Given the description of an element on the screen output the (x, y) to click on. 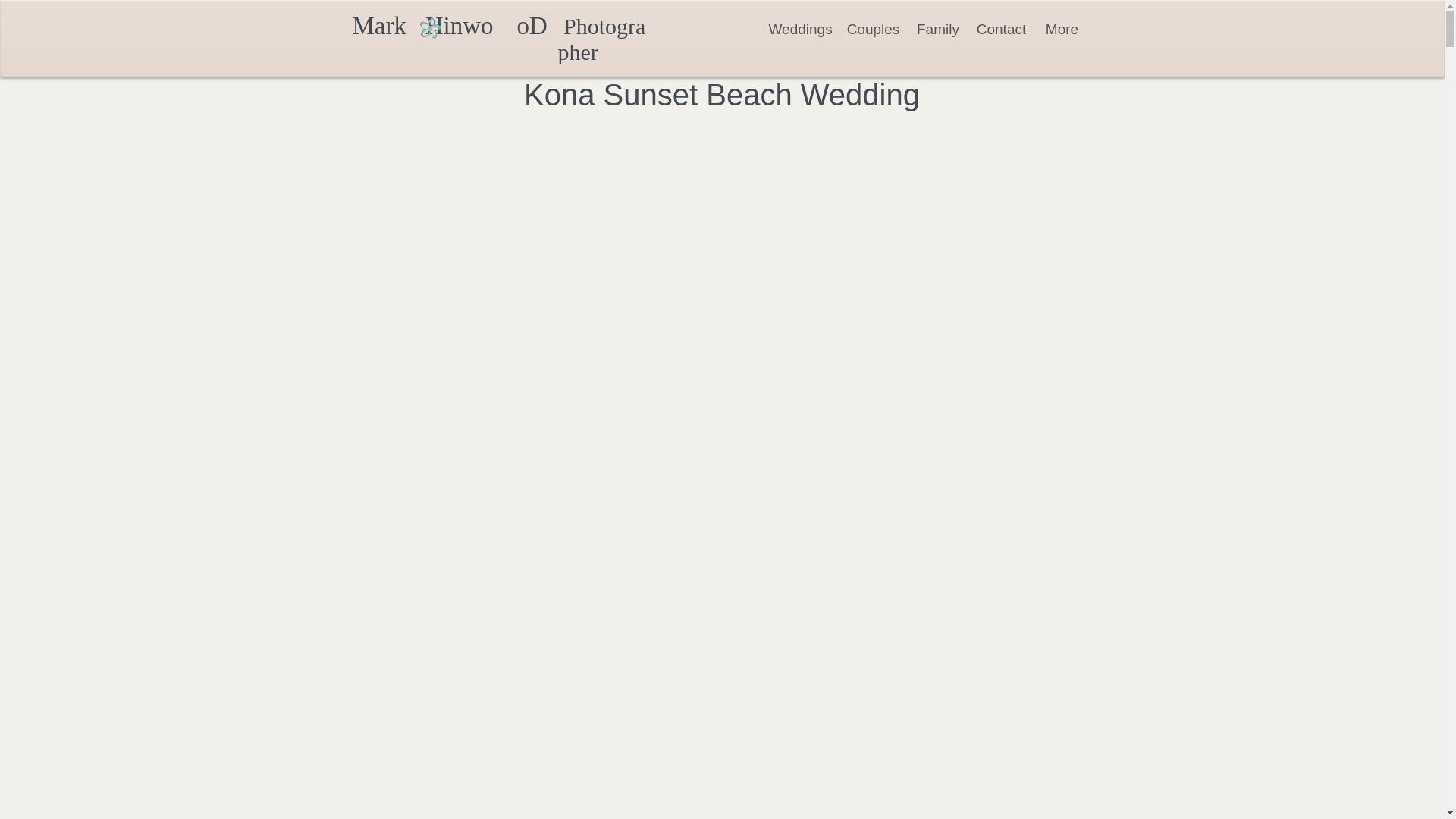
Couples (872, 29)
Contact (1001, 29)
Family (937, 29)
Weddings (800, 29)
